Given the description of an element on the screen output the (x, y) to click on. 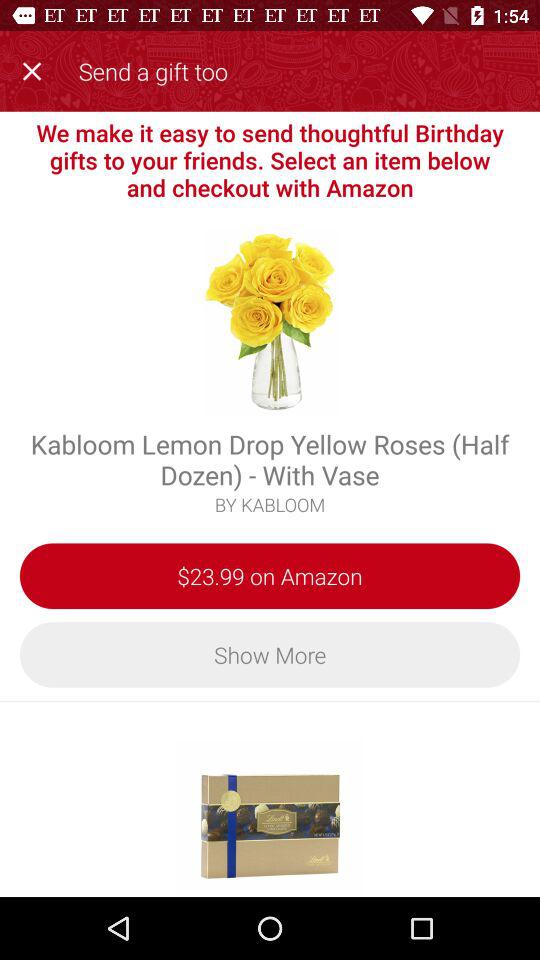
scroll until the 23 99 on icon (269, 575)
